Given the description of an element on the screen output the (x, y) to click on. 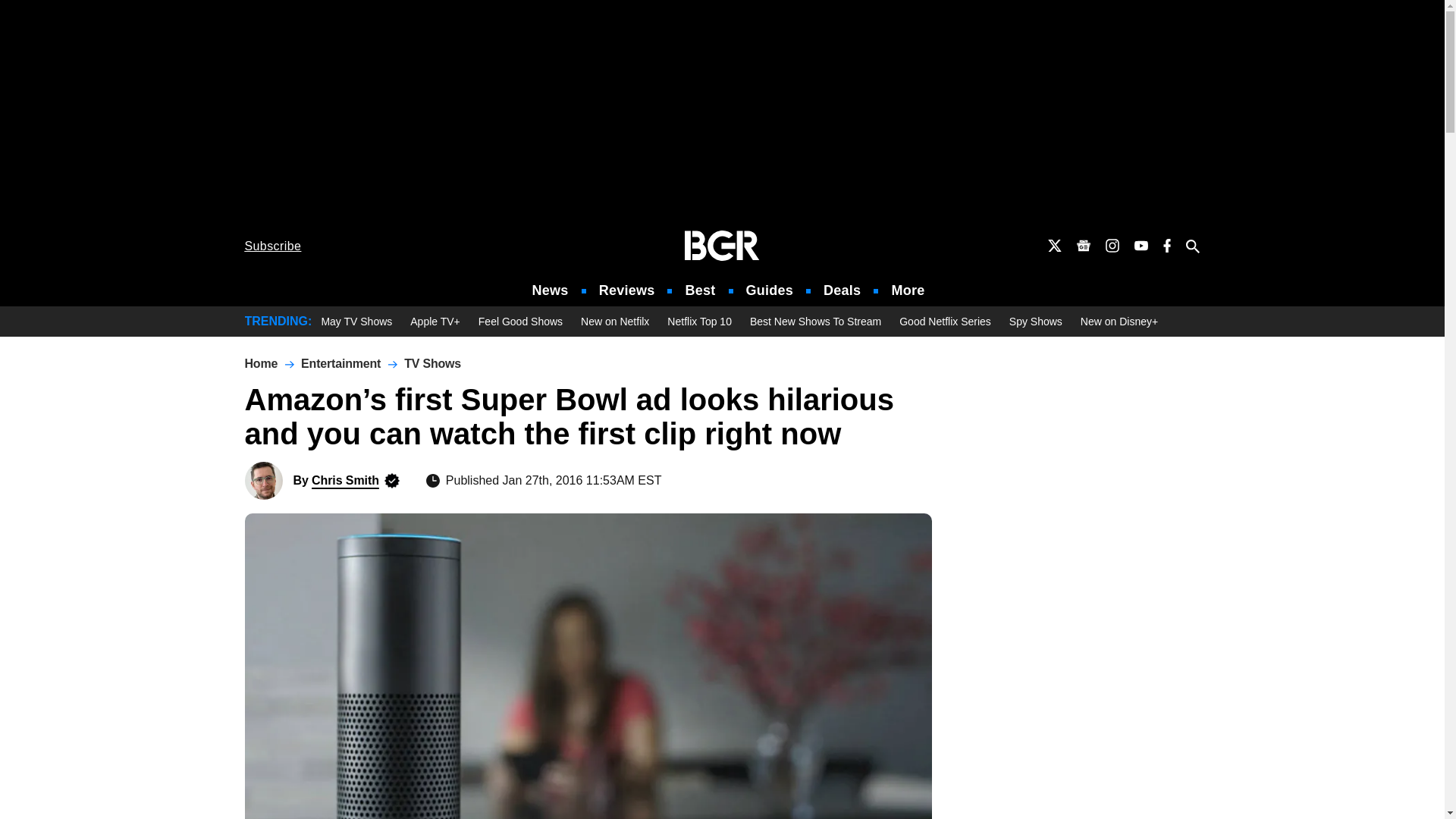
News (550, 290)
Subscribe (272, 245)
More (907, 290)
Deals (842, 290)
Best (699, 290)
Reviews (626, 290)
Posts by Chris Smith (344, 480)
Guides (769, 290)
